Given the description of an element on the screen output the (x, y) to click on. 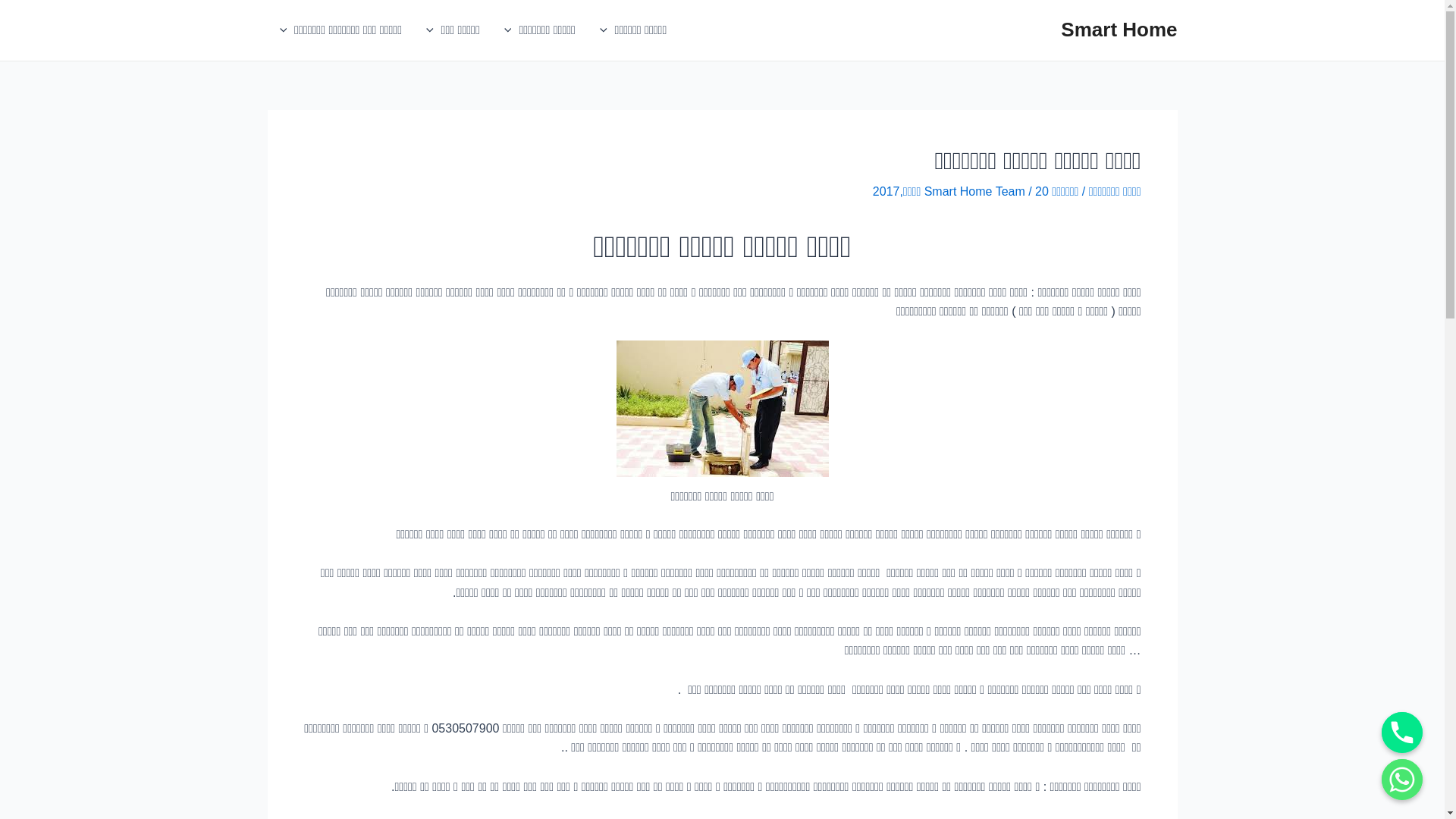
Smart Home Element type: text (1118, 29)
Smart Home Team Element type: text (976, 191)
